Given the description of an element on the screen output the (x, y) to click on. 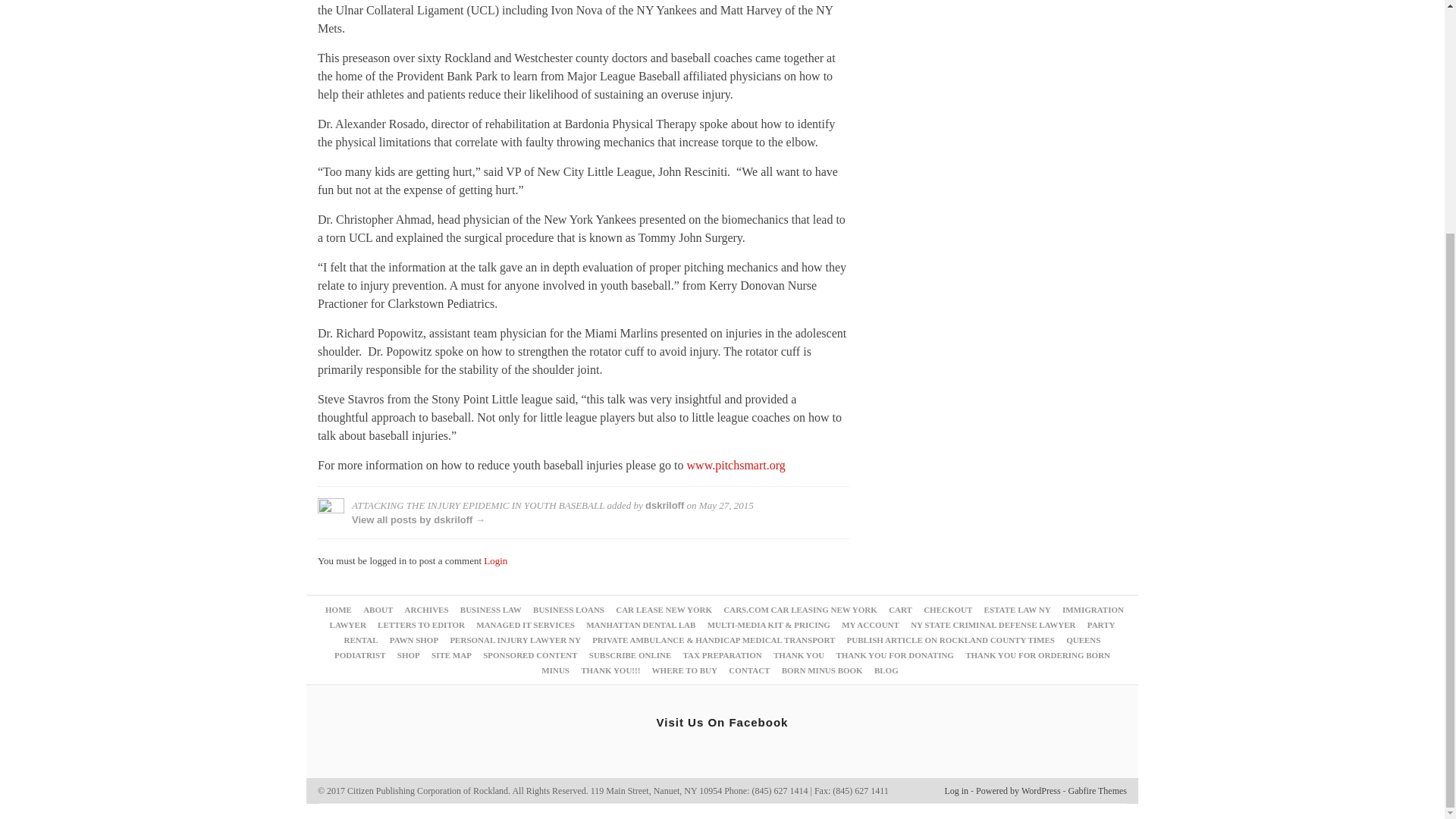
Semantic Personal Publishing Platform (1017, 790)
www.pitchsmart.org (736, 464)
dskriloff (664, 505)
Login (494, 560)
WordPress Newspaper Themes (1097, 790)
